Given the description of an element on the screen output the (x, y) to click on. 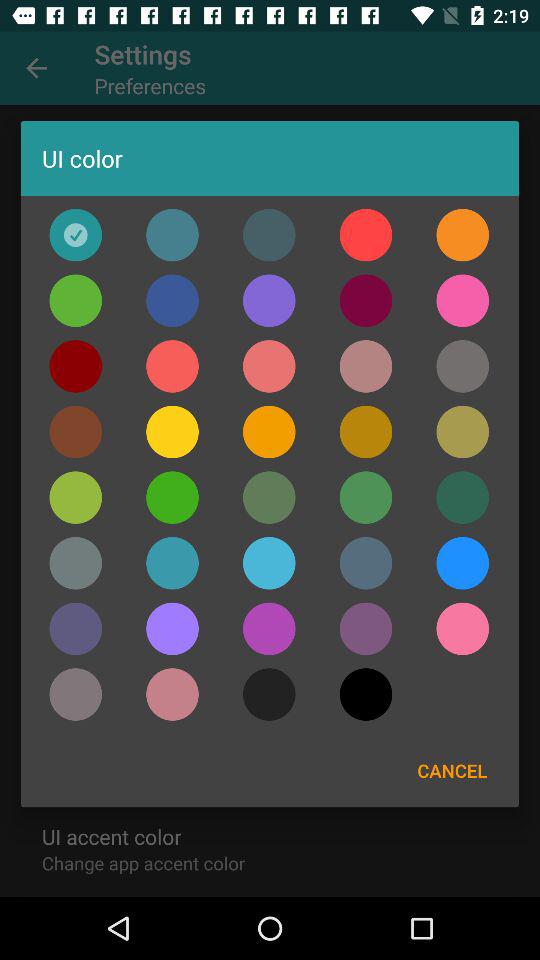
go to ui color (75, 300)
